Given the description of an element on the screen output the (x, y) to click on. 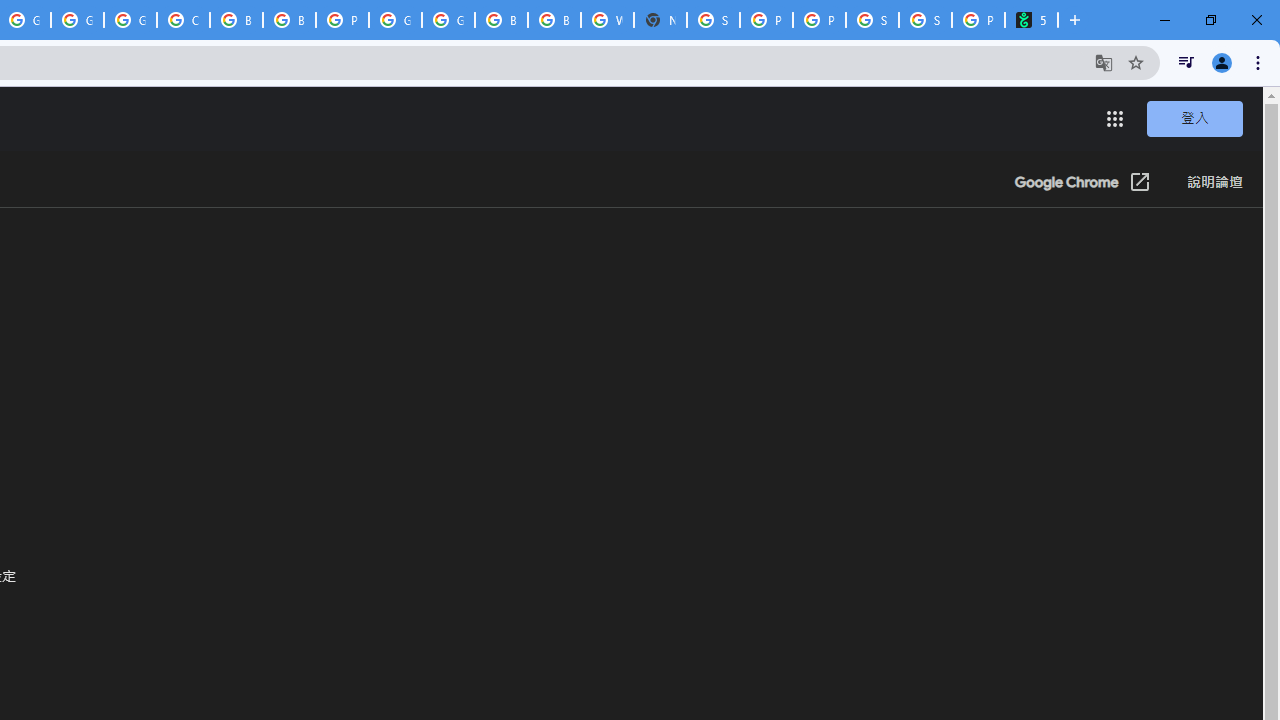
Browse Chrome as a guest - Computer - Google Chrome Help (501, 20)
Google Cloud Platform (448, 20)
Google Cloud Platform (77, 20)
Translate this page (1103, 62)
New Tab (660, 20)
